Given the description of an element on the screen output the (x, y) to click on. 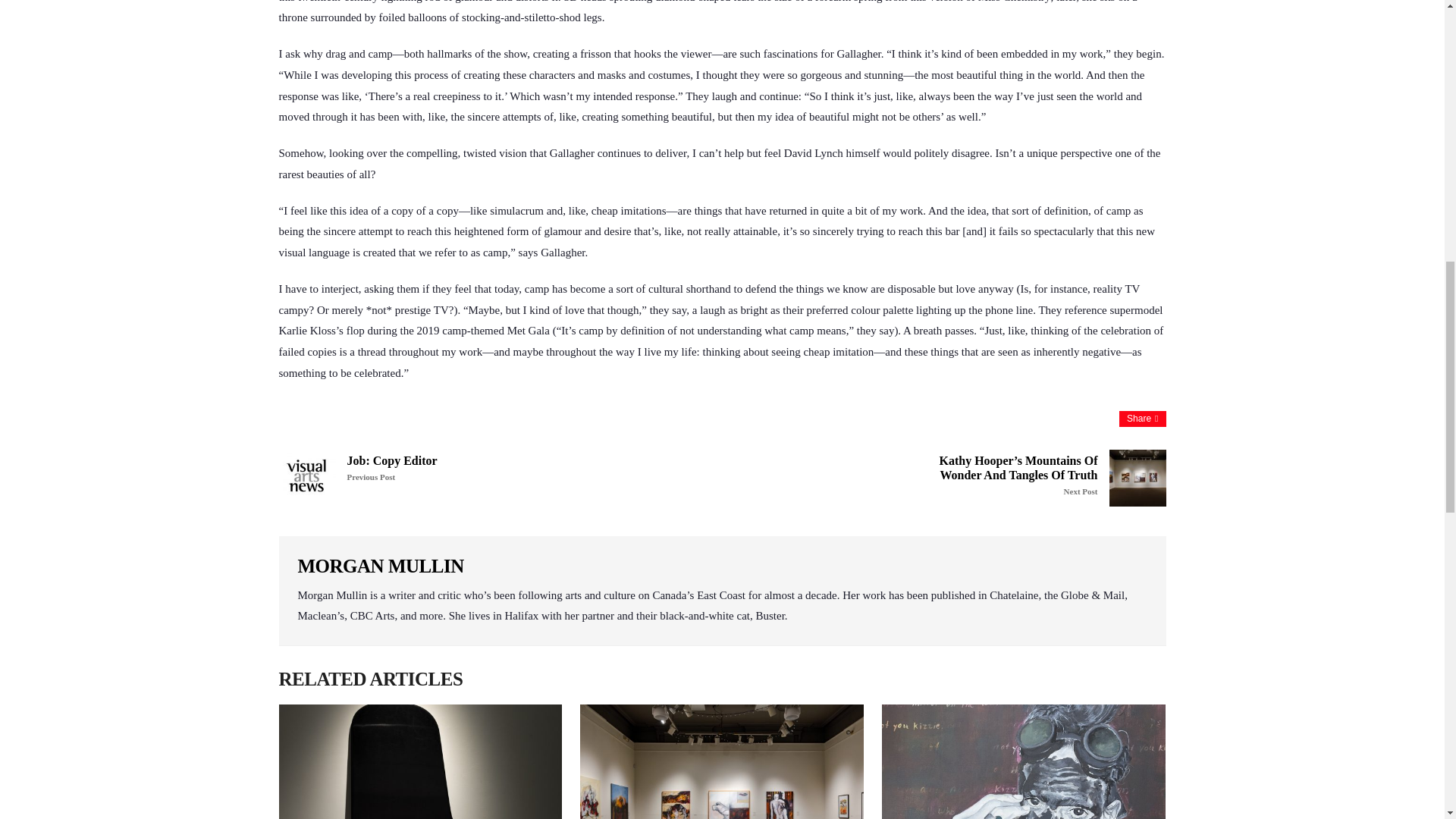
Pitchpole (420, 761)
REBECCA FISK: THERE IS NO ONE STORY OF BLACK GIRLHOOD (442, 467)
